Given the description of an element on the screen output the (x, y) to click on. 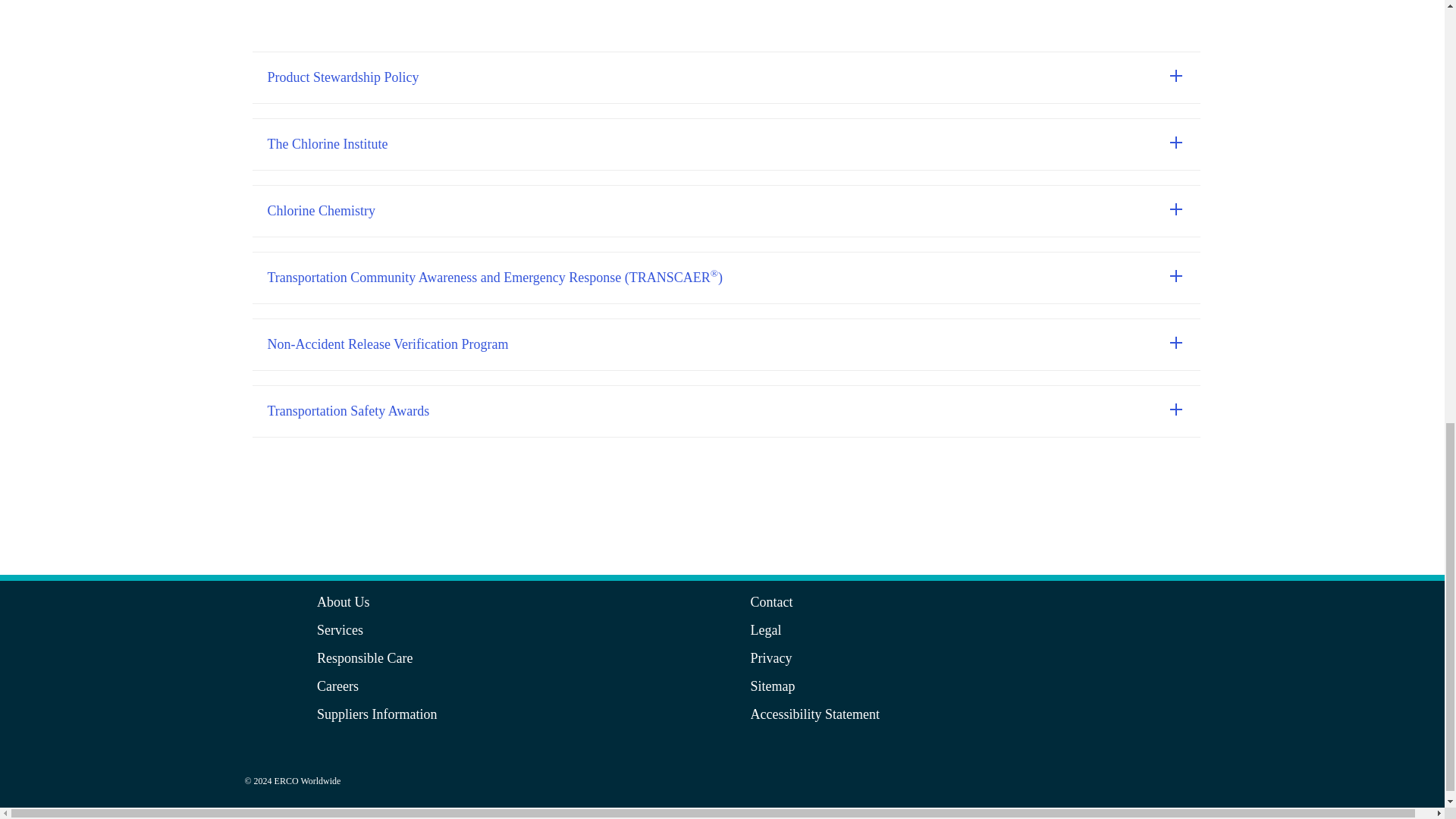
LinkedIn Icon (1180, 795)
li2 (1180, 781)
